Given the description of an element on the screen output the (x, y) to click on. 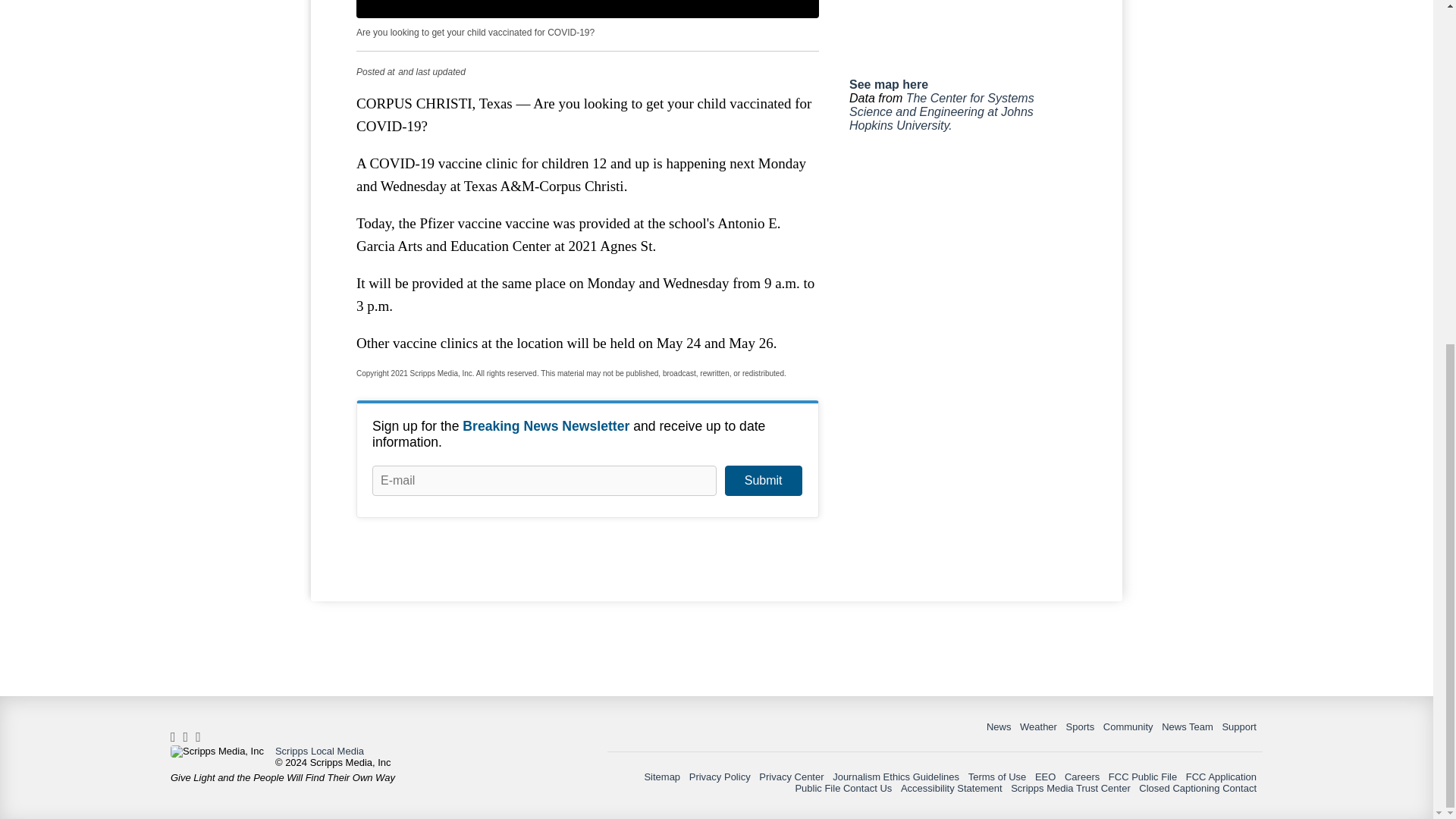
Submit (763, 481)
